Given the description of an element on the screen output the (x, y) to click on. 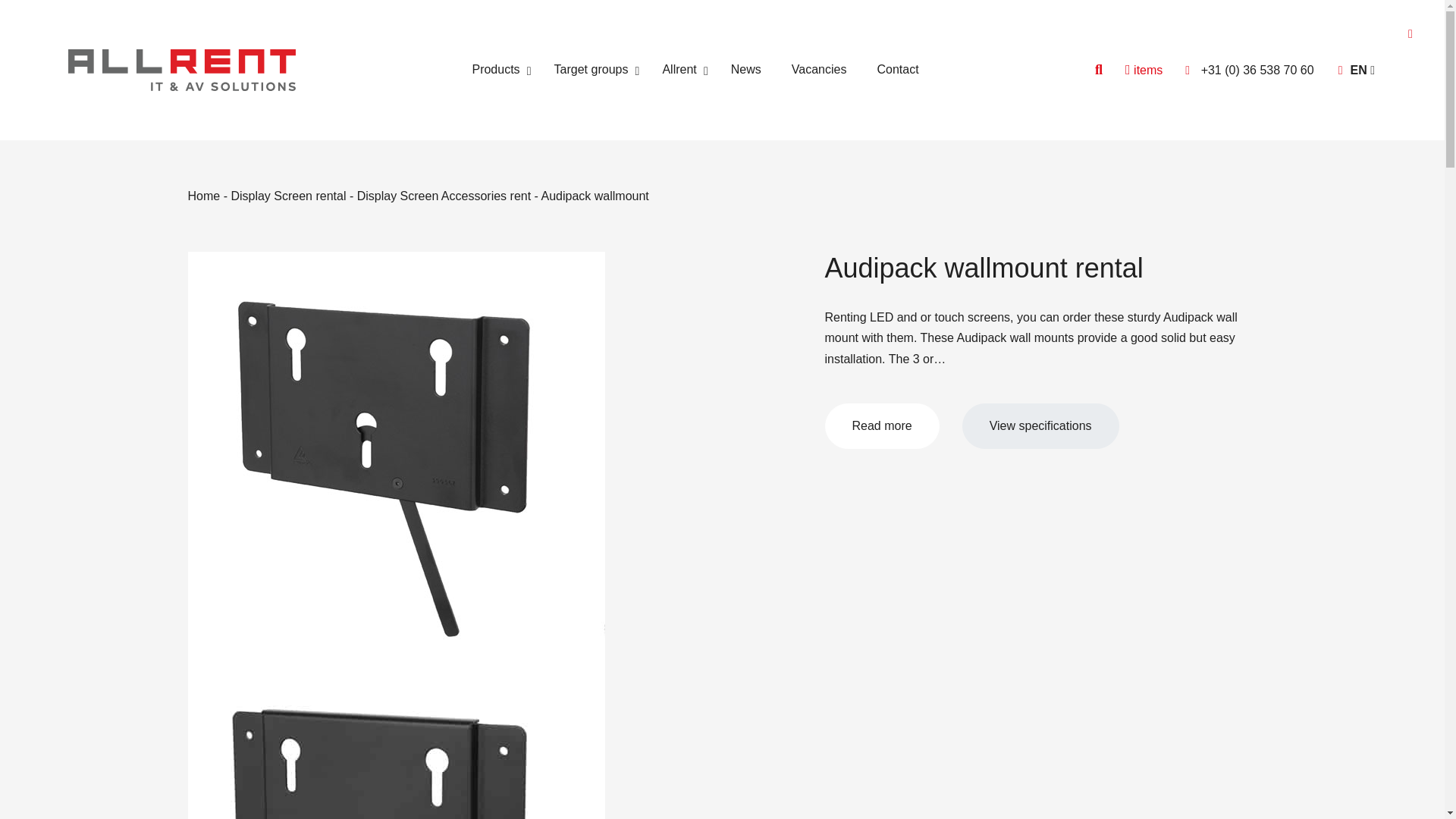
Read more (882, 425)
View specifications (694, 70)
Allrent (1040, 425)
EN (181, 69)
items (1355, 69)
